Given the description of an element on the screen output the (x, y) to click on. 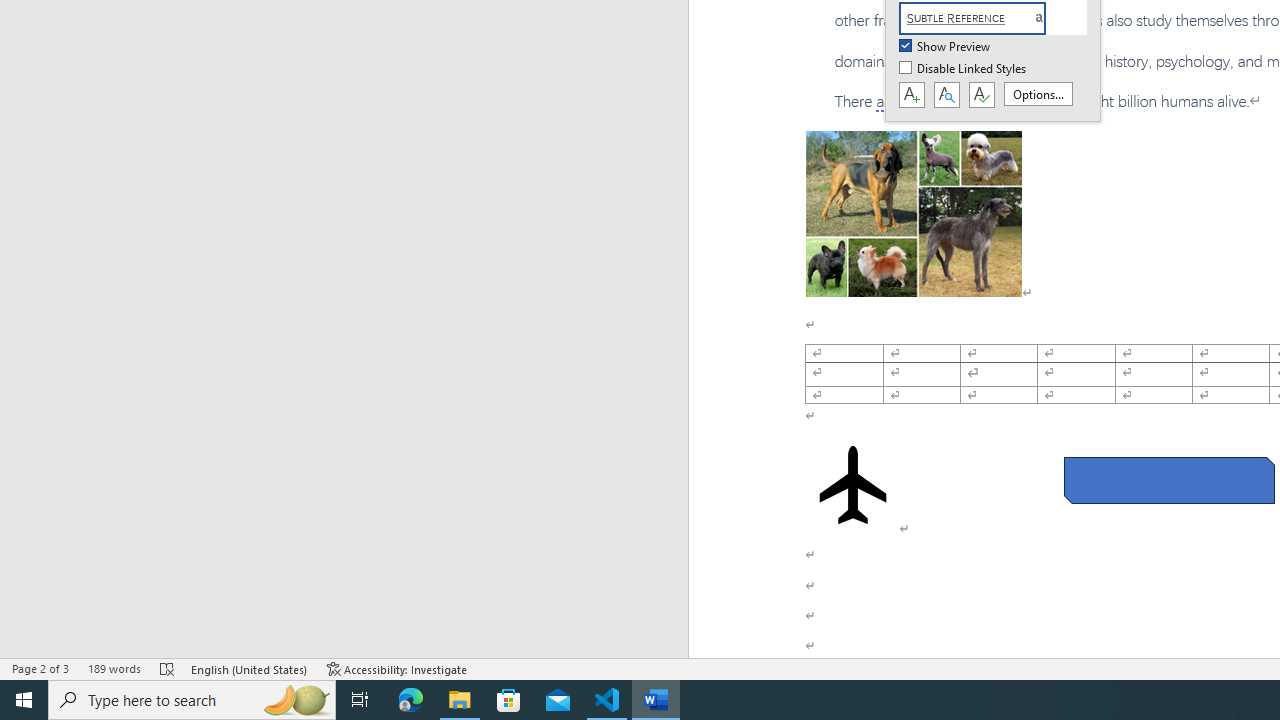
Airplane with solid fill (852, 484)
Rectangle: Diagonal Corners Snipped 2 (1168, 480)
Subtle Reference (984, 18)
Disable Linked Styles (964, 69)
Options... (1037, 93)
Class: NetUIButton (981, 95)
Show Preview (946, 47)
Morphological variation in six dogs (913, 213)
Spelling and Grammar Check Errors (168, 668)
Page Number Page 2 of 3 (39, 668)
